Given the description of an element on the screen output the (x, y) to click on. 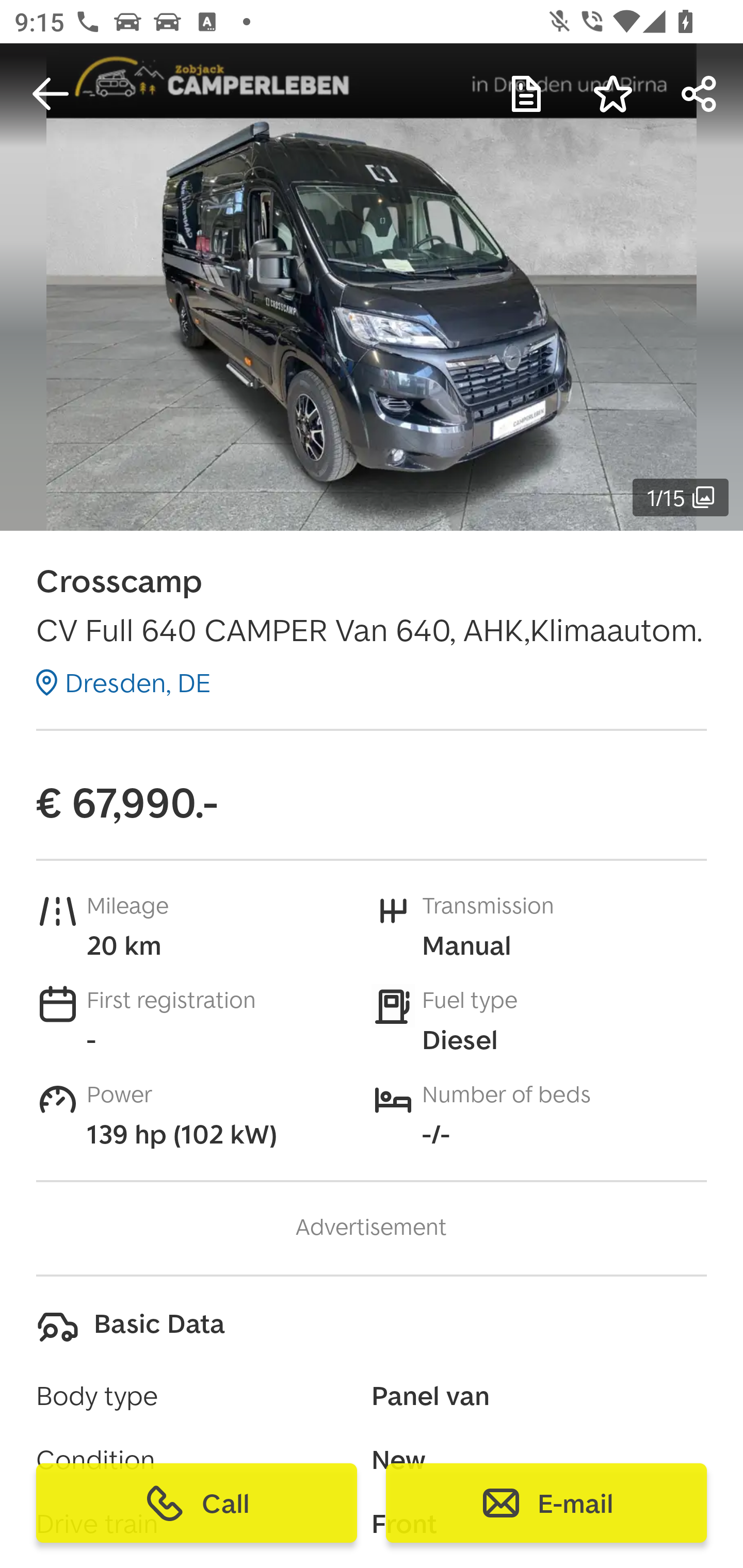
Navigate up (50, 93)
My Notes (525, 93)
Save (612, 93)
Forward (699, 93)
Dresden, DE (123, 681)
Call (196, 1502)
E-mail (545, 1502)
